Given the description of an element on the screen output the (x, y) to click on. 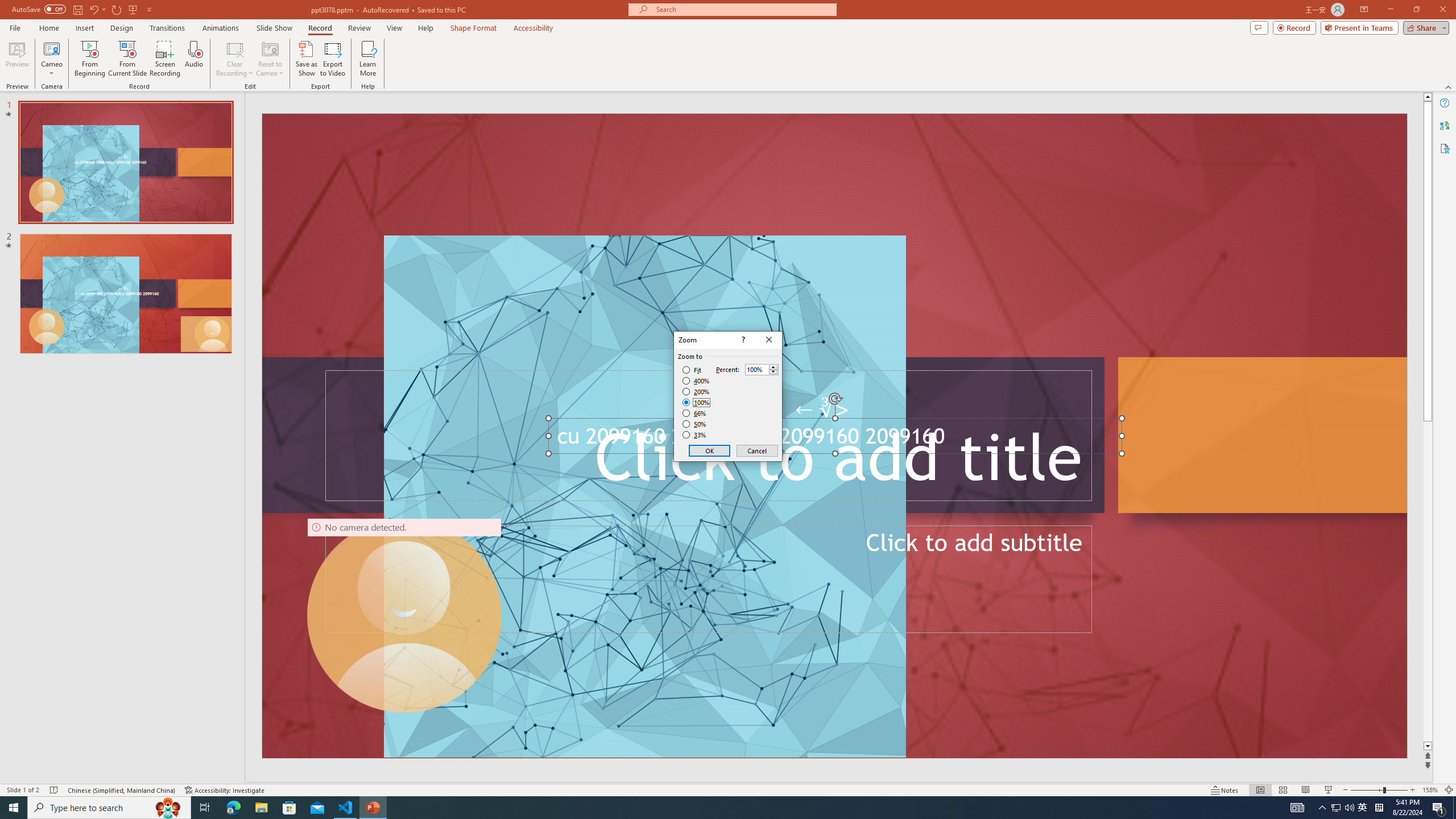
Percent (761, 369)
